Given the description of an element on the screen output the (x, y) to click on. 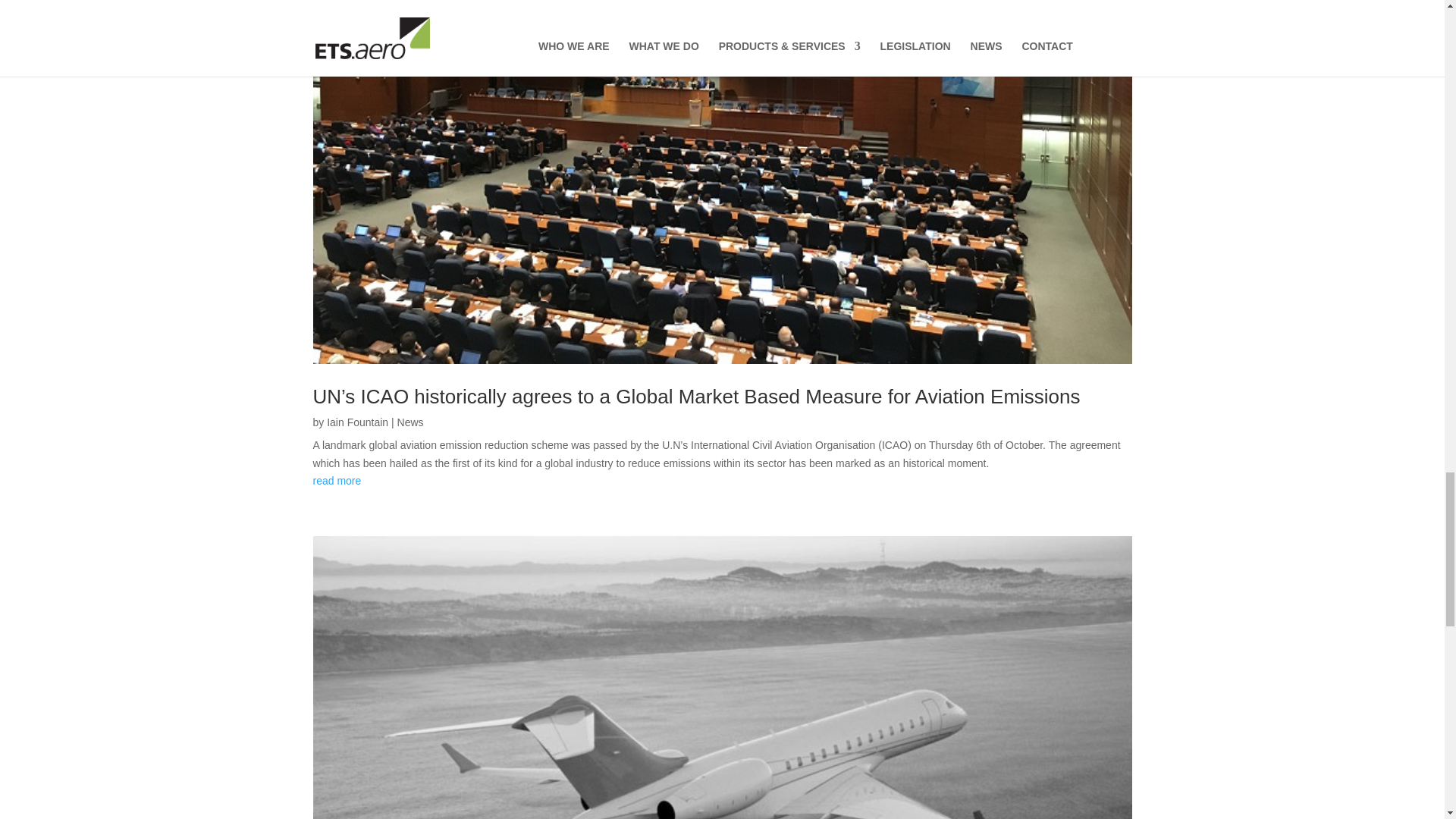
read more (722, 481)
Posts by Iain Fountain (357, 422)
News (410, 422)
Iain Fountain (357, 422)
